Given the description of an element on the screen output the (x, y) to click on. 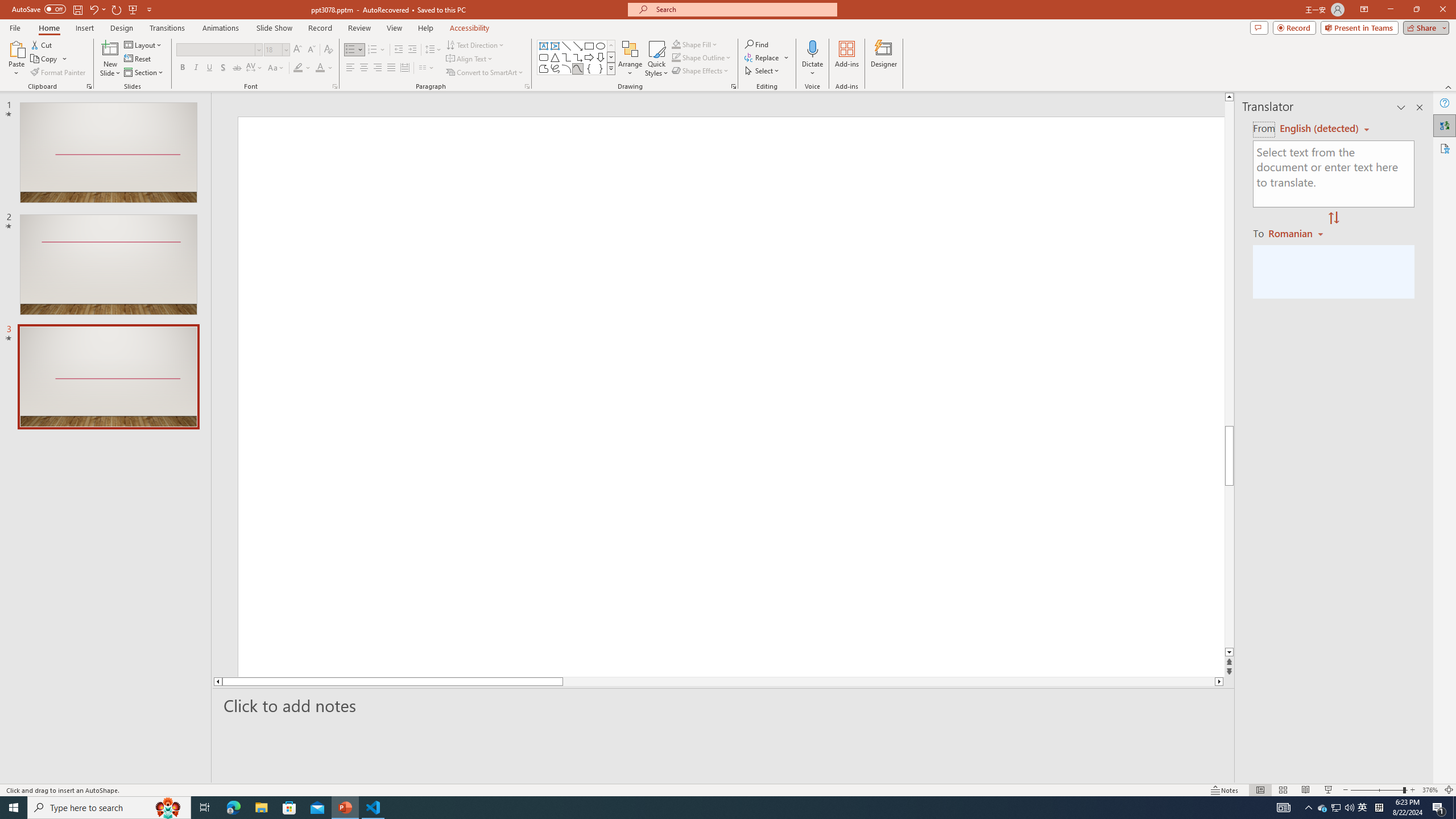
Romanian (1296, 232)
Shape Fill Dark Green, Accent 2 (675, 44)
